Given the description of an element on the screen output the (x, y) to click on. 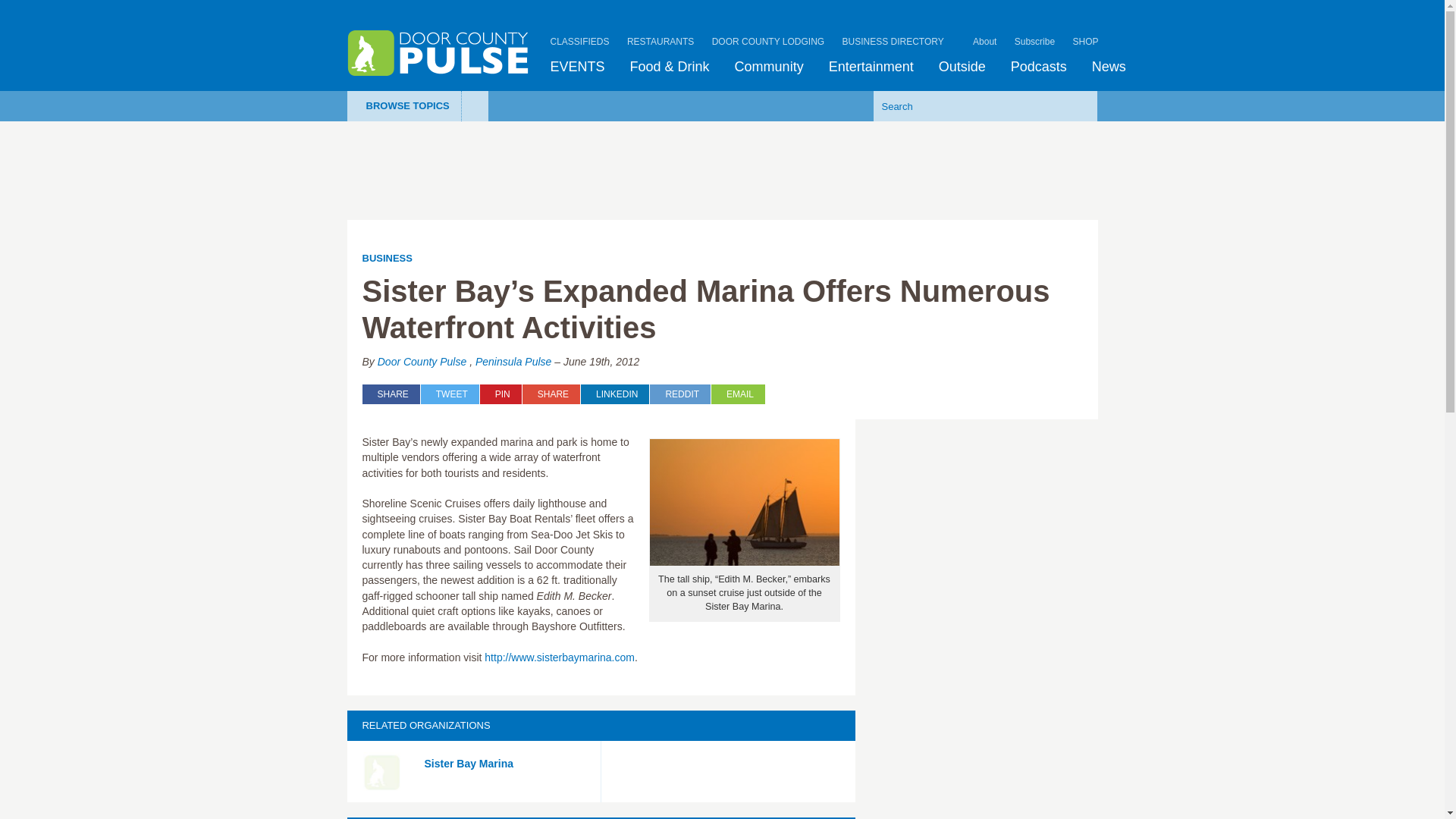
EVENTS (577, 66)
Posts by Door County Pulse (422, 361)
Outside (961, 66)
Entertainment (871, 66)
Search for: (962, 105)
Community (768, 66)
Door County Pulse (437, 53)
